Given the description of an element on the screen output the (x, y) to click on. 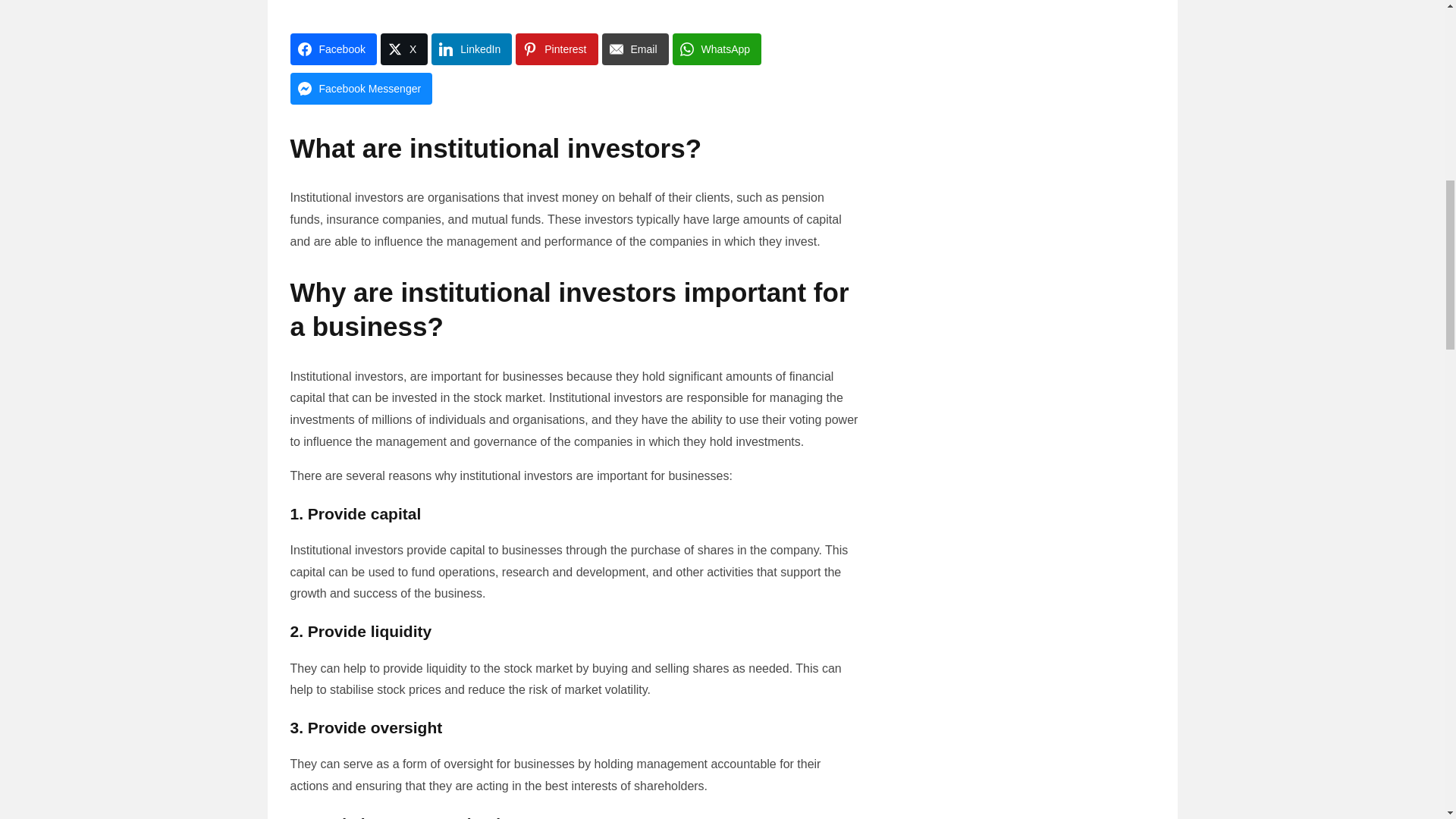
Share on LinkedIn (471, 49)
Share on Facebook (332, 49)
Share on X (404, 49)
